Given the description of an element on the screen output the (x, y) to click on. 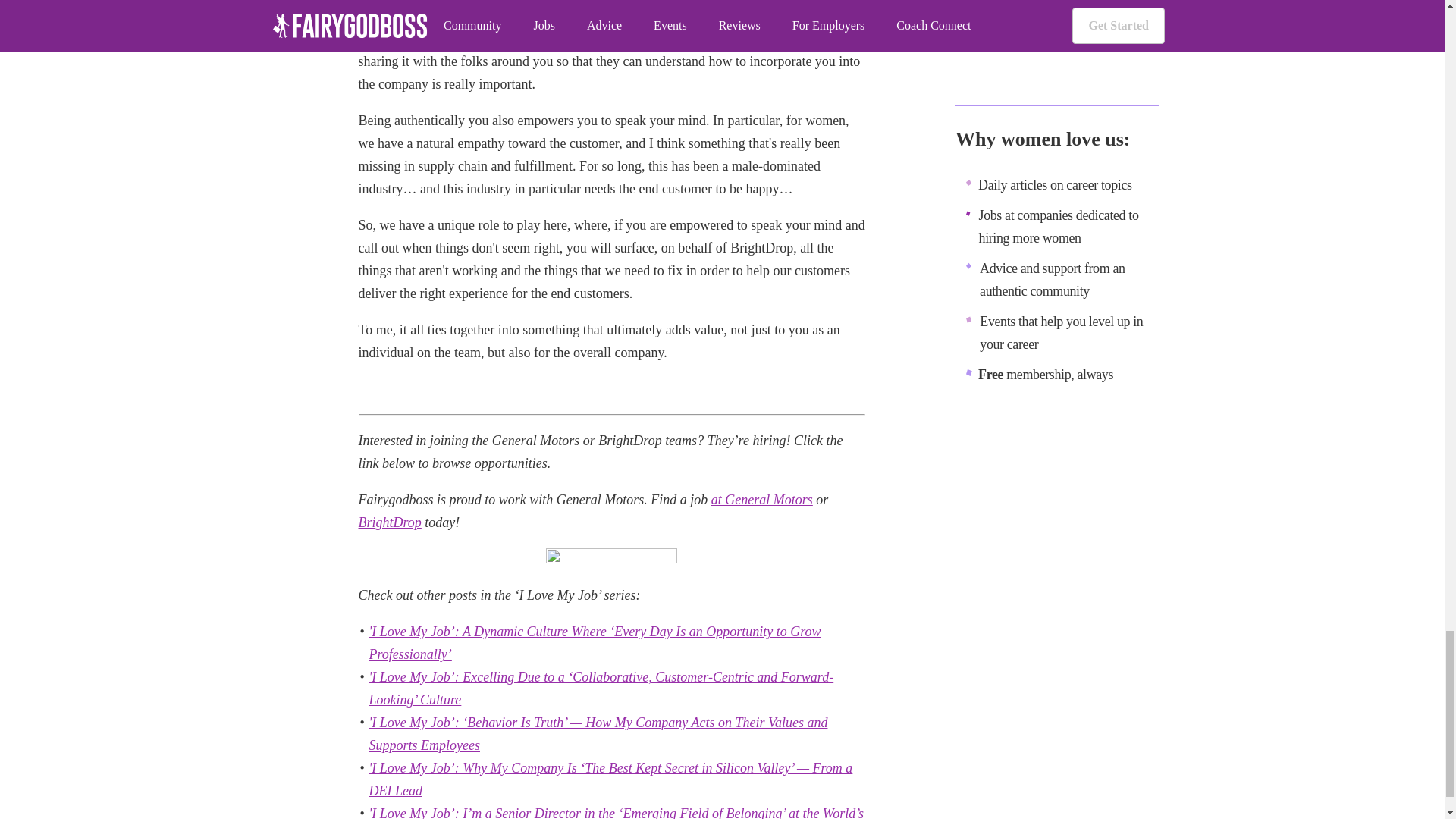
at General Motors (761, 499)
BrightDrop (389, 522)
